Given the description of an element on the screen output the (x, y) to click on. 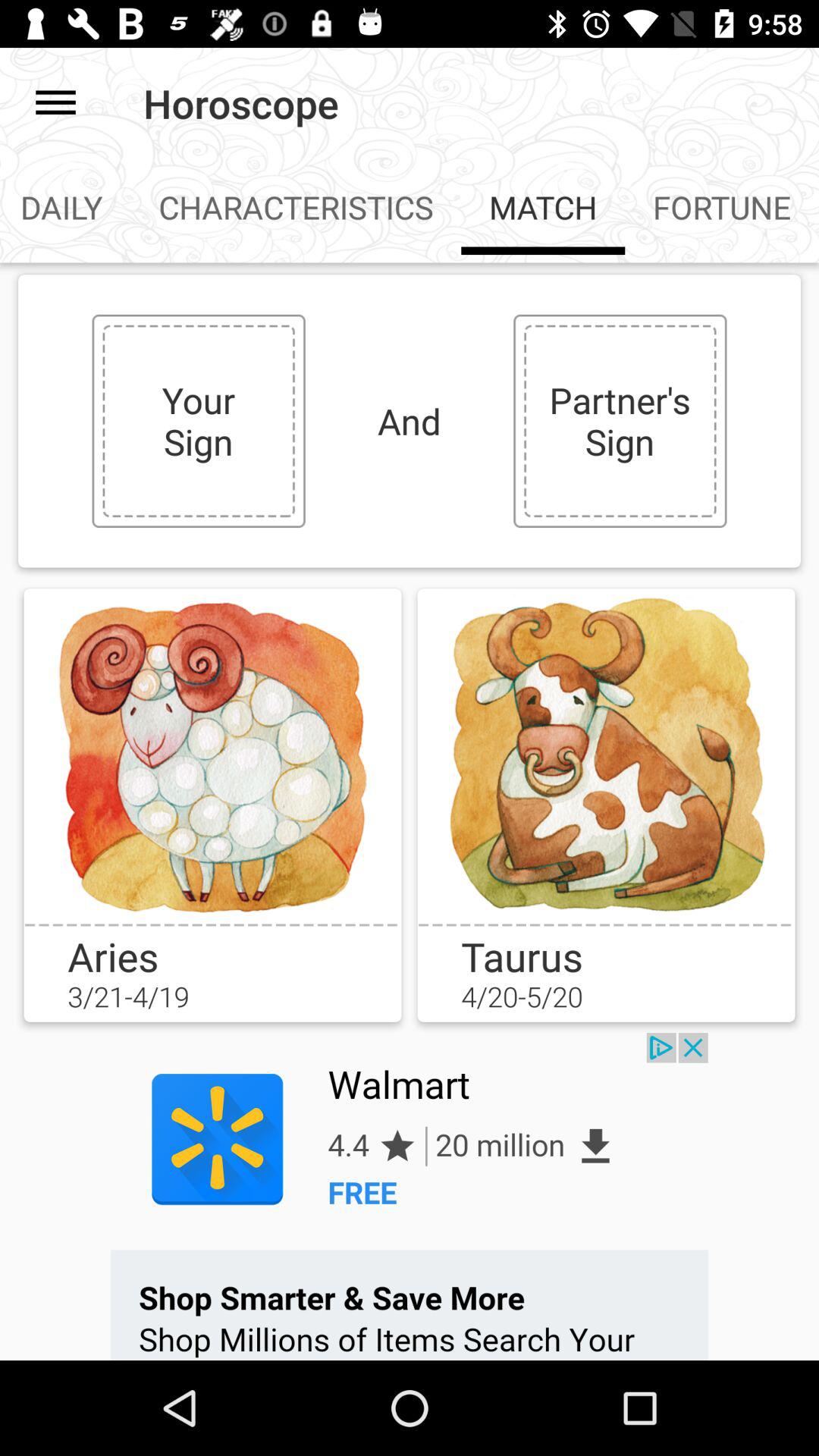
go to advertisement (409, 1196)
